Given the description of an element on the screen output the (x, y) to click on. 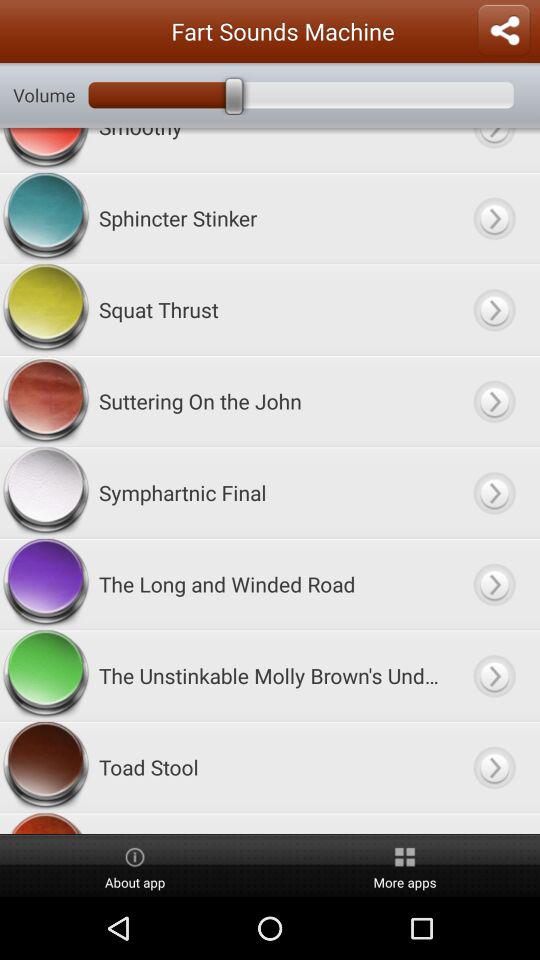
turn on the more apps icon (405, 866)
